Given the description of an element on the screen output the (x, y) to click on. 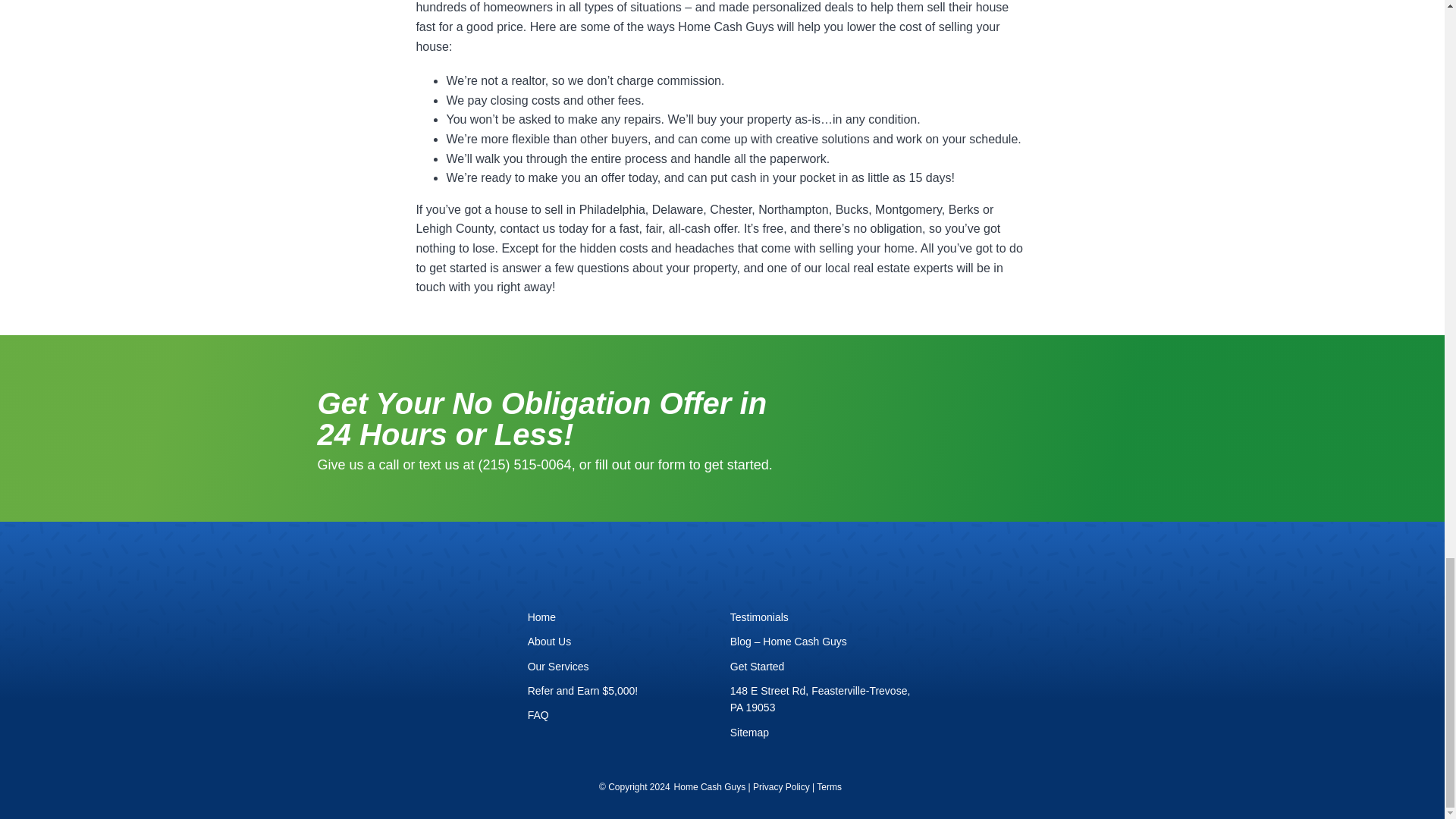
148 E Street Rd, Feasterville-Trevose, PA 19053 (823, 699)
FAQ (620, 714)
Our Services (620, 666)
answer a few questions about your property (619, 267)
Bucks (852, 209)
Home (620, 617)
Testimonials (823, 617)
About Us (620, 641)
Sitemap (823, 732)
Get Started (823, 666)
